Given the description of an element on the screen output the (x, y) to click on. 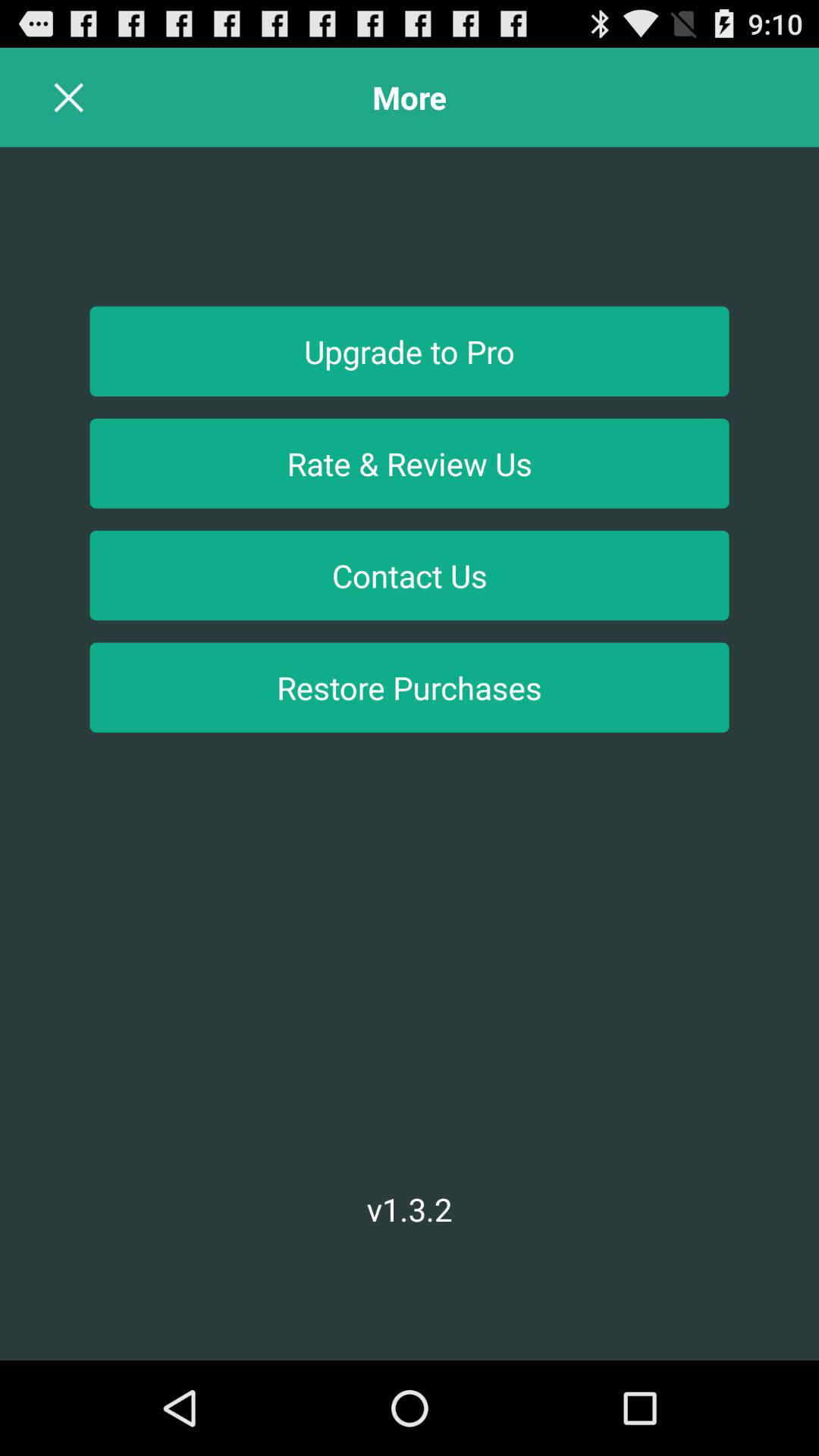
click restore purchases icon (409, 687)
